Given the description of an element on the screen output the (x, y) to click on. 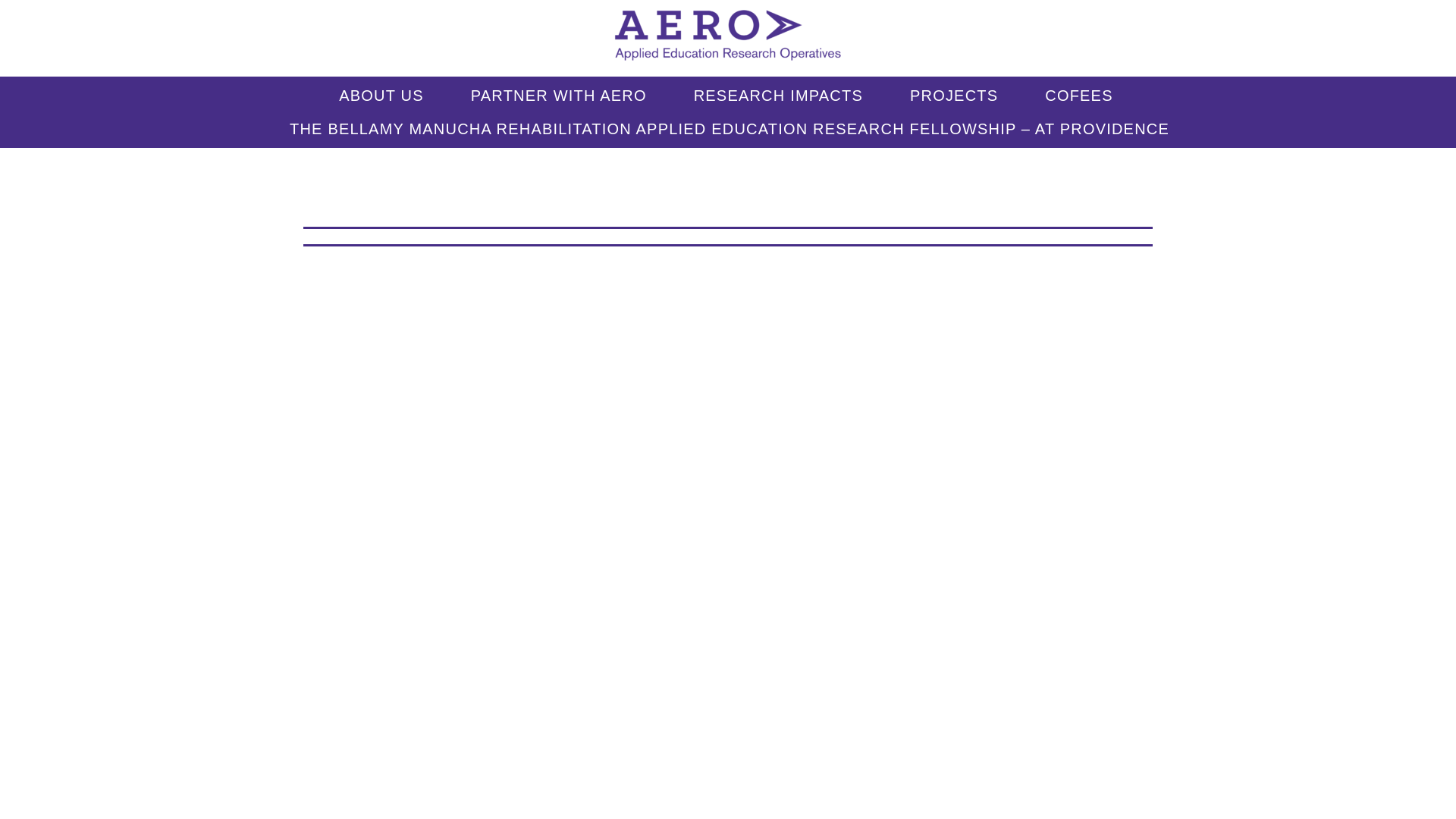
PARTNER WITH AERO (558, 95)
ABOUT US (380, 95)
RESEARCH IMPACTS (778, 95)
PROJECTS (953, 95)
COFEES (1078, 95)
